Given the description of an element on the screen output the (x, y) to click on. 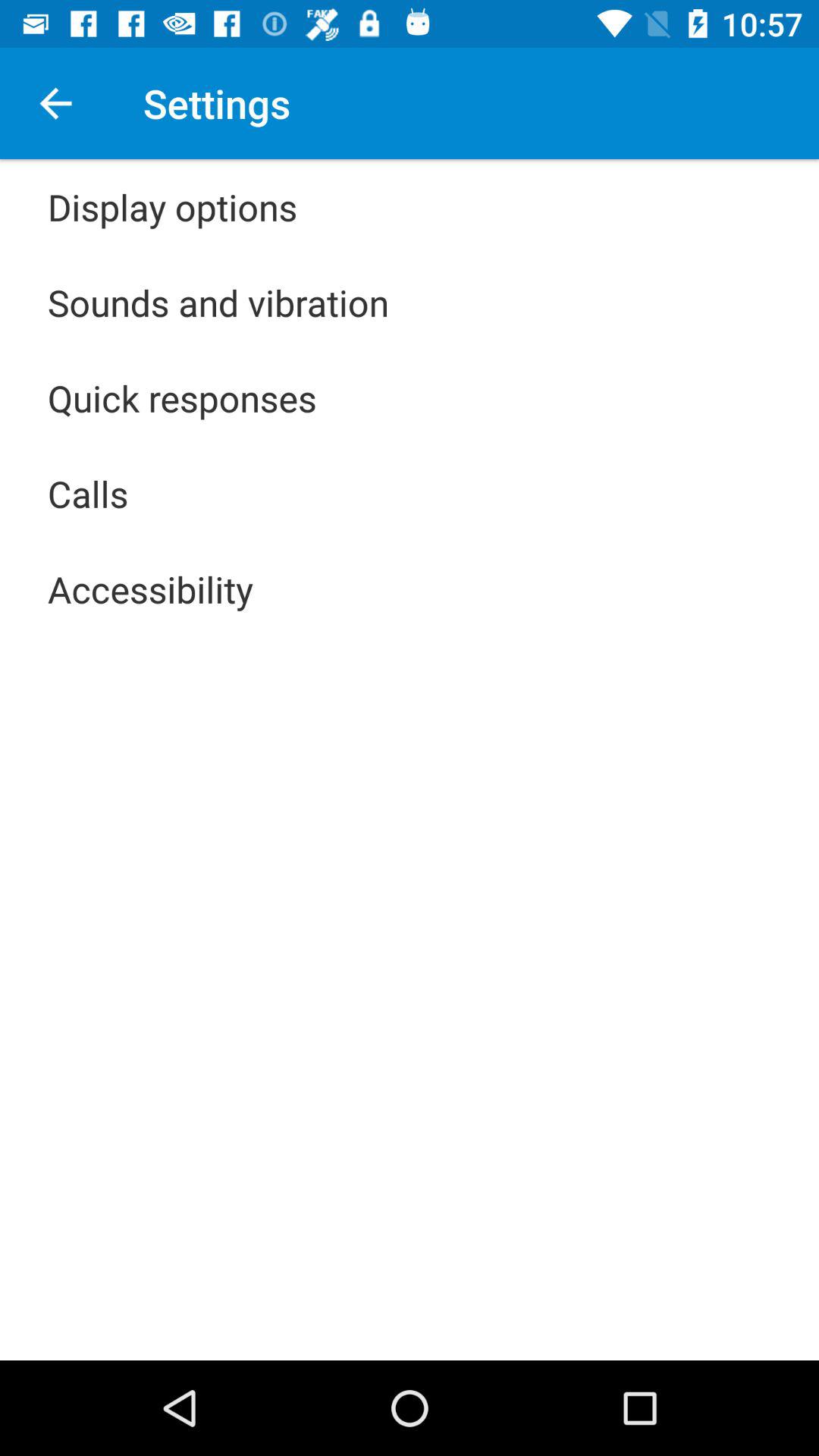
turn on the icon below sounds and vibration (181, 397)
